Given the description of an element on the screen output the (x, y) to click on. 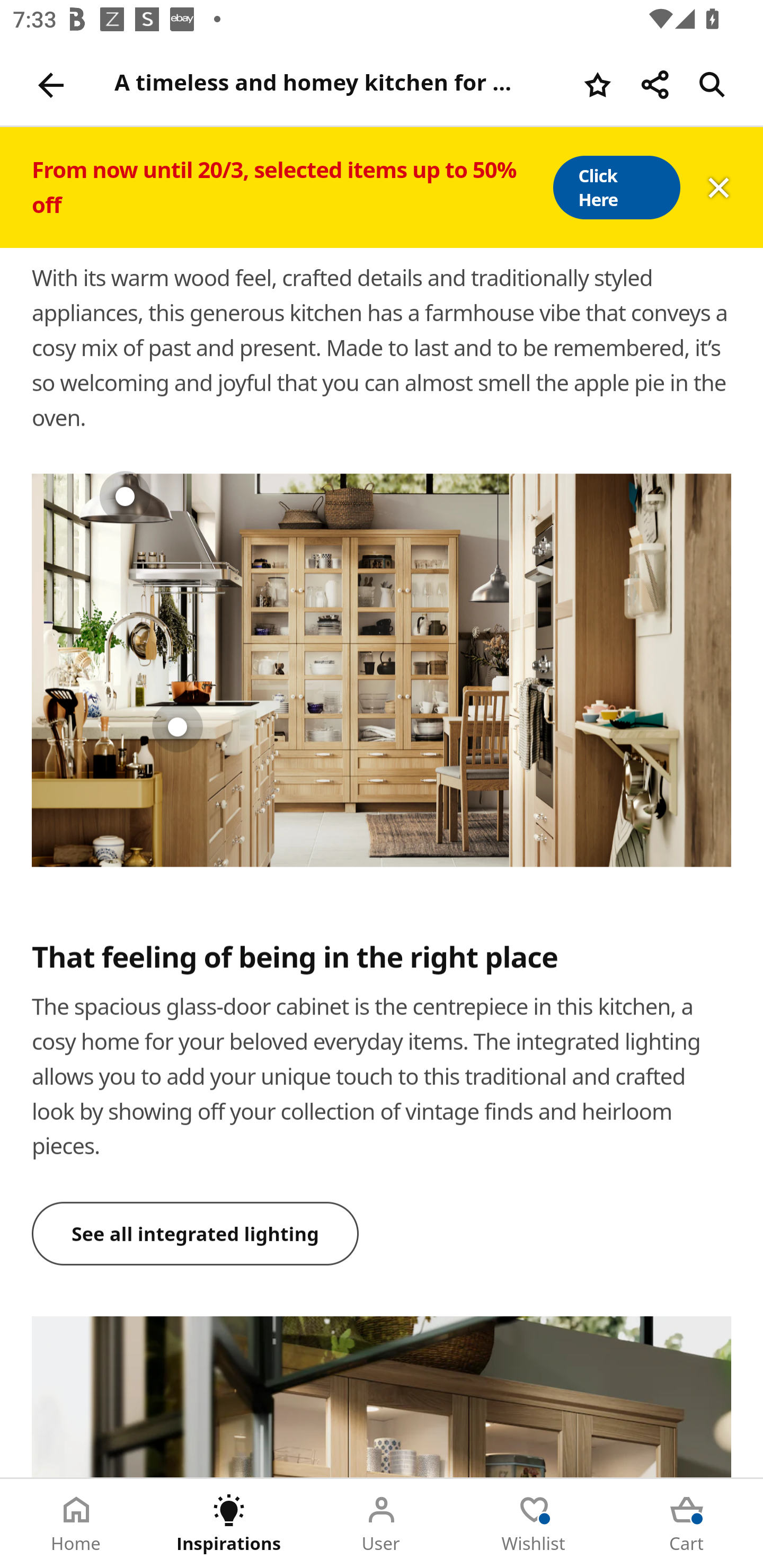
Click Here (615, 187)
See all integrated lighting (195, 1233)
Home
Tab 1 of 5 (76, 1522)
Inspirations
Tab 2 of 5 (228, 1522)
User
Tab 3 of 5 (381, 1522)
Wishlist
Tab 4 of 5 (533, 1522)
Cart
Tab 5 of 5 (686, 1522)
